Given the description of an element on the screen output the (x, y) to click on. 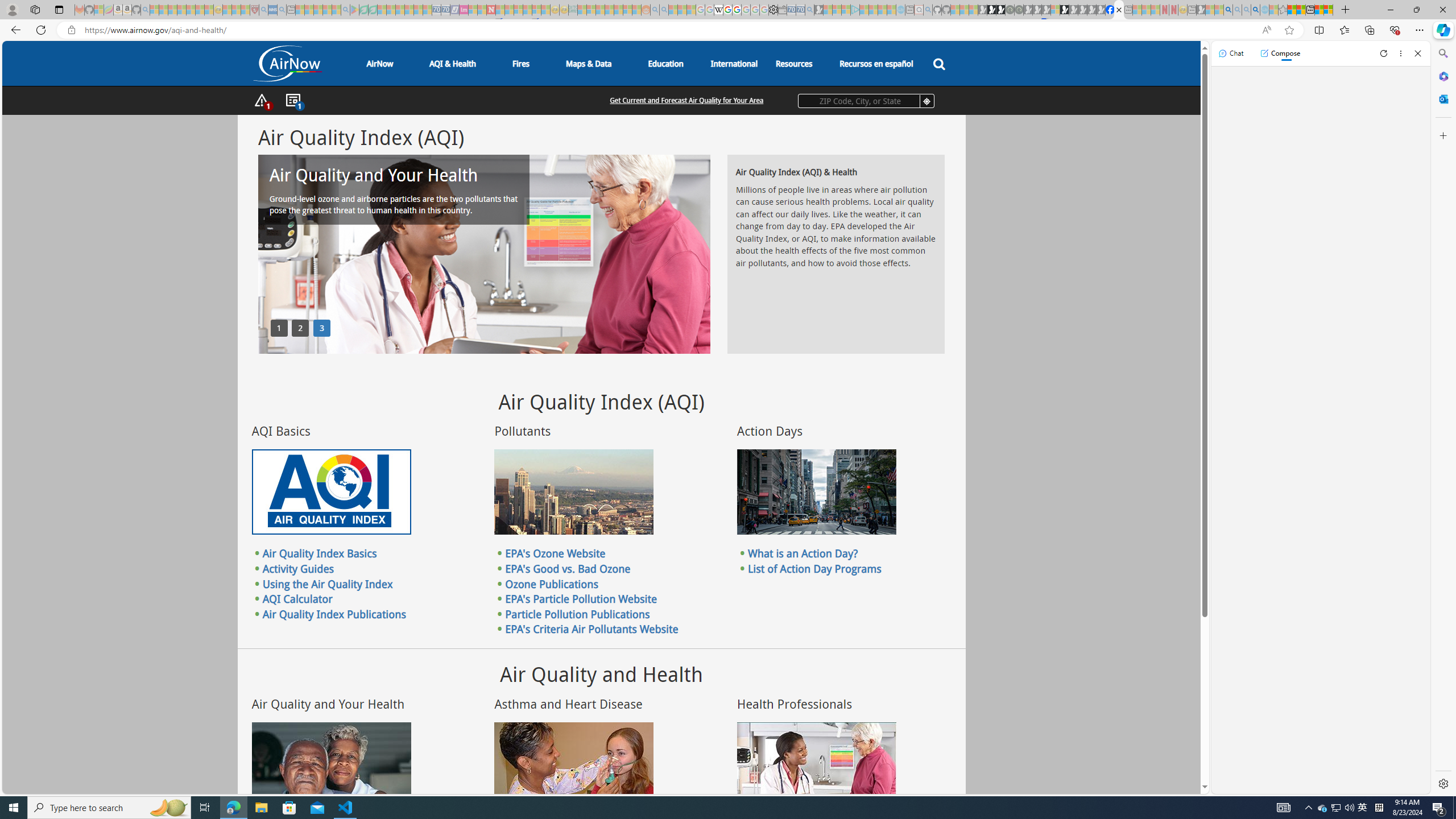
Air Quality Index Publications (334, 613)
2 (299, 327)
Future Focus Report 2024 - Sleeping (1018, 9)
Asthma and Heart Disease (573, 764)
Health Professionals (816, 763)
